Given the description of an element on the screen output the (x, y) to click on. 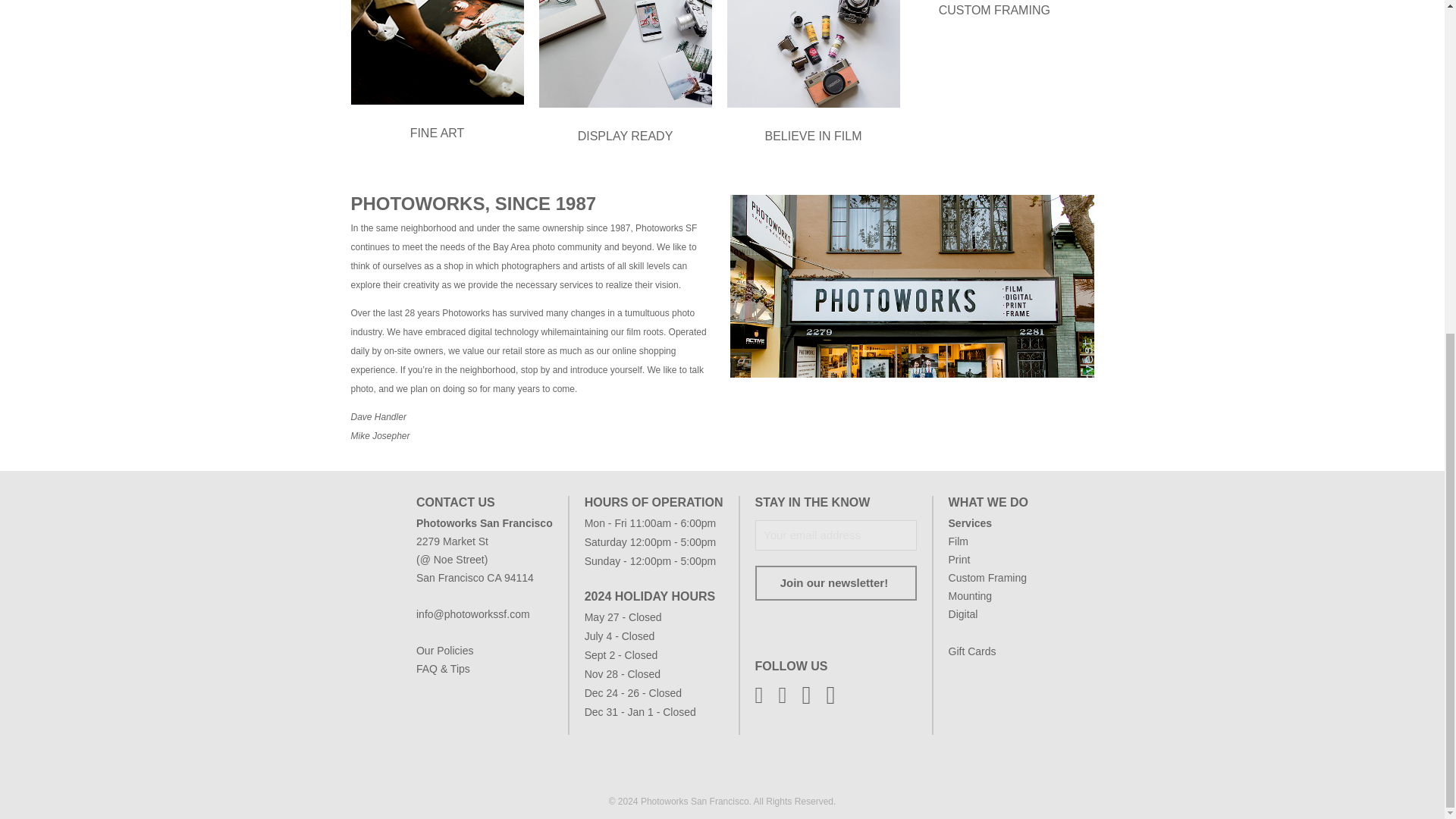
CUSTOM FRAMING (994, 10)
FINE ART (436, 133)
BELIEVE IN FILM (812, 135)
Join our newsletter!  (836, 582)
DISPLAY READY (624, 135)
